Given the description of an element on the screen output the (x, y) to click on. 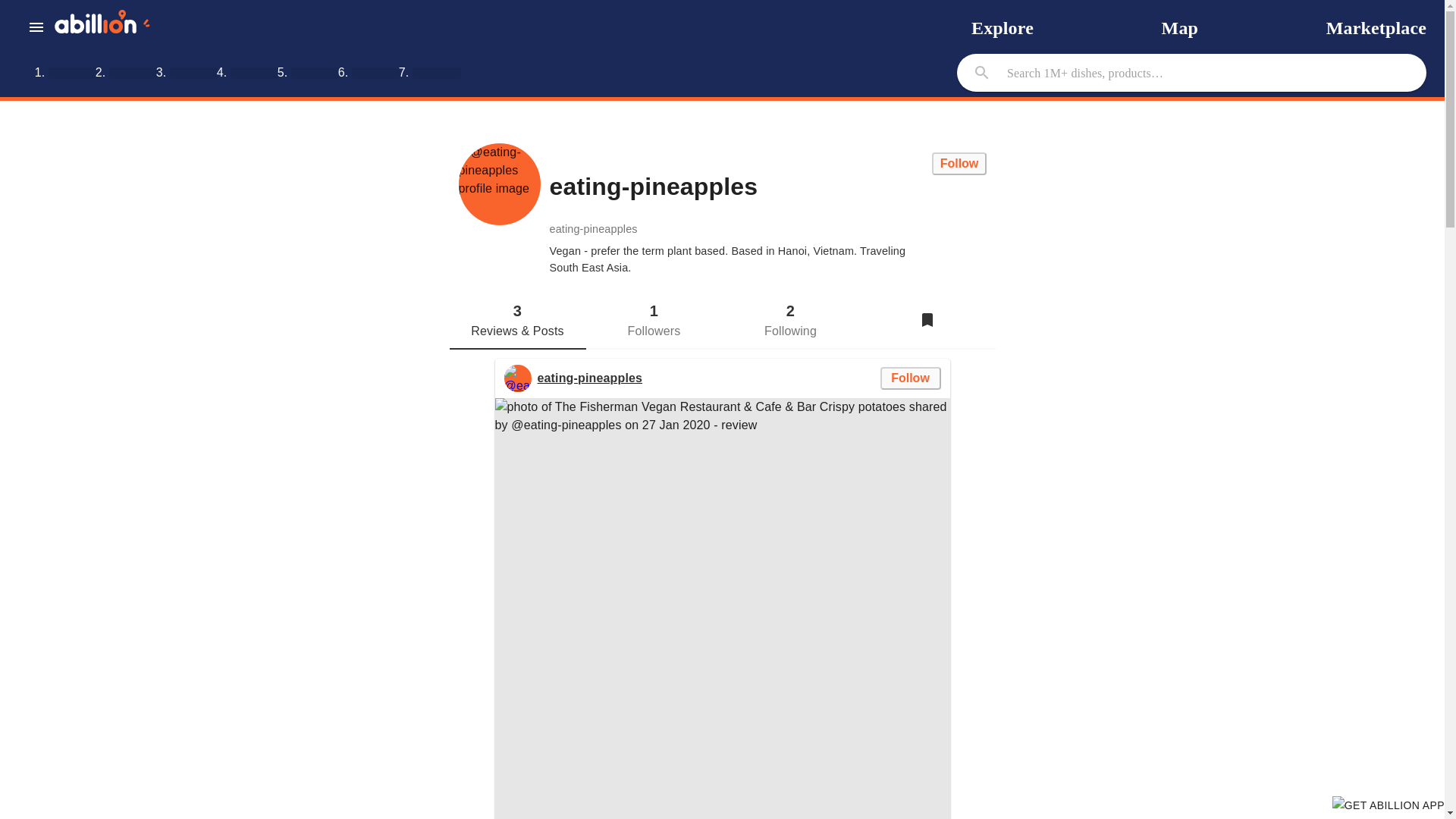
eating-pineapples (589, 378)
eating-pineapples (499, 184)
eating-pineapples (517, 378)
Follow (958, 163)
Explore (1002, 27)
Follow (909, 377)
Marketplace (1376, 27)
Map (1179, 27)
